Given the description of an element on the screen output the (x, y) to click on. 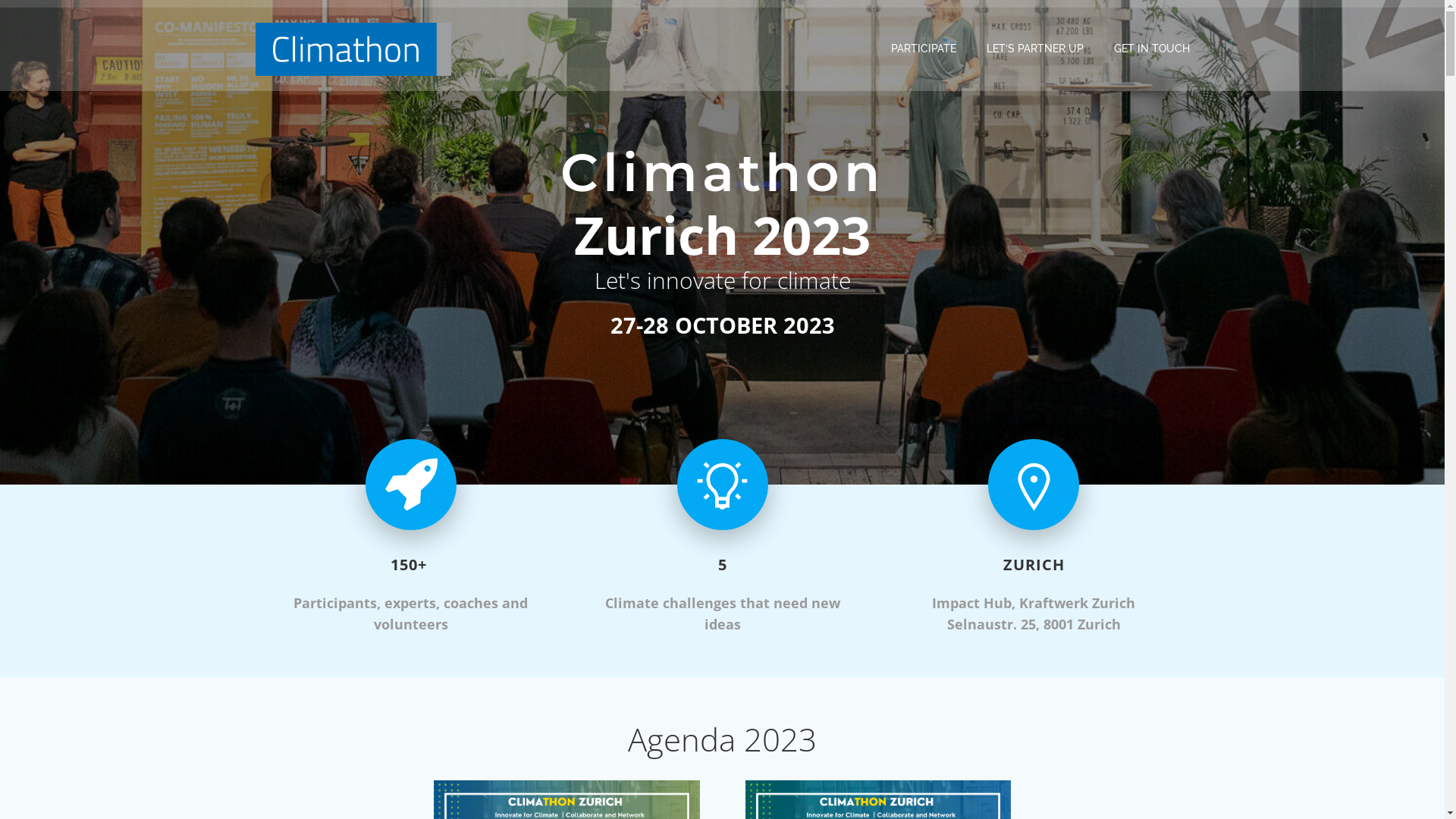
GET IN TOUCH Element type: text (1151, 48)
PARTICIPATE Element type: text (922, 48)
